Given the description of an element on the screen output the (x, y) to click on. 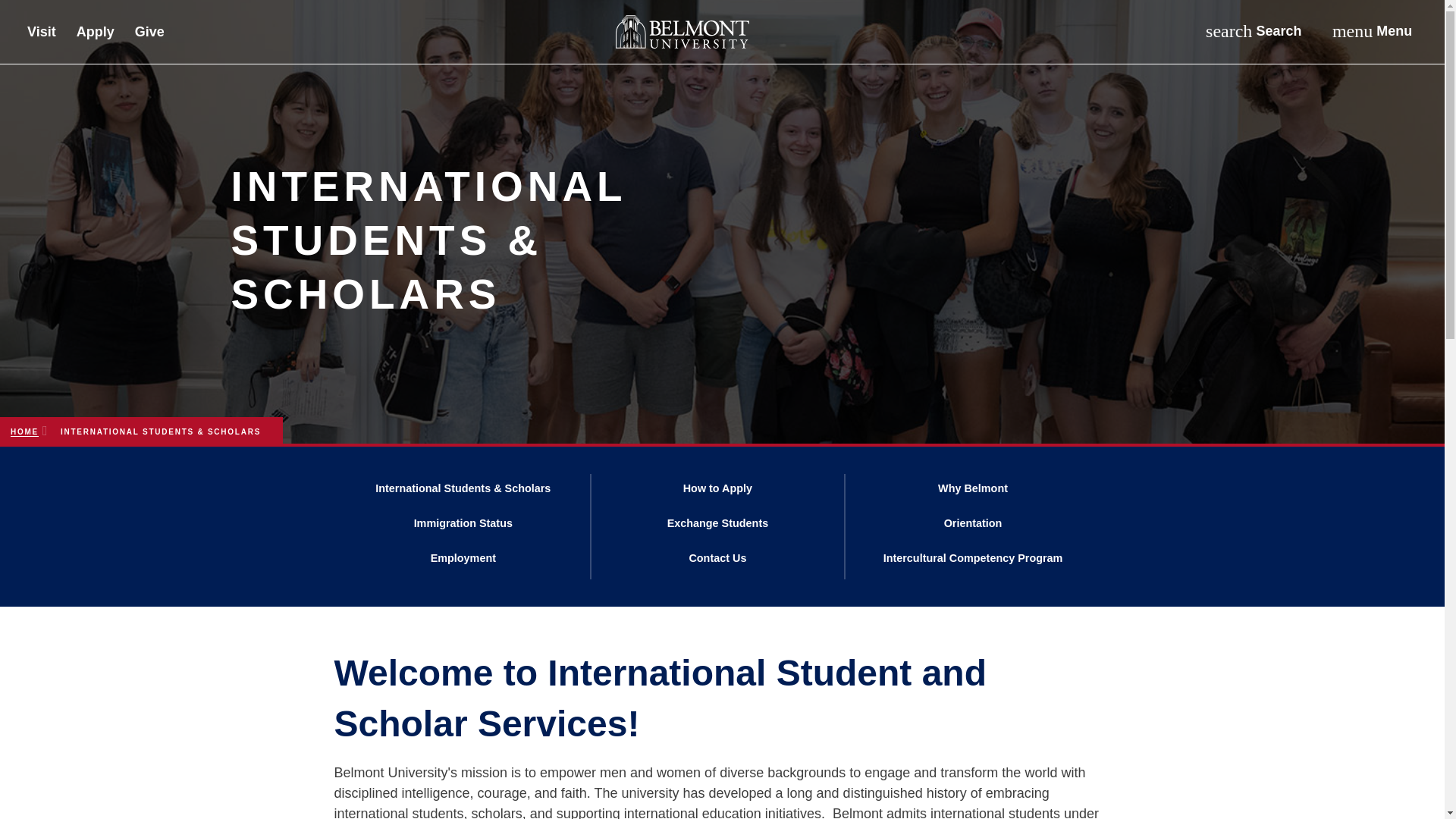
Visit (41, 34)
Apply (96, 34)
Give (1371, 31)
